Given the description of an element on the screen output the (x, y) to click on. 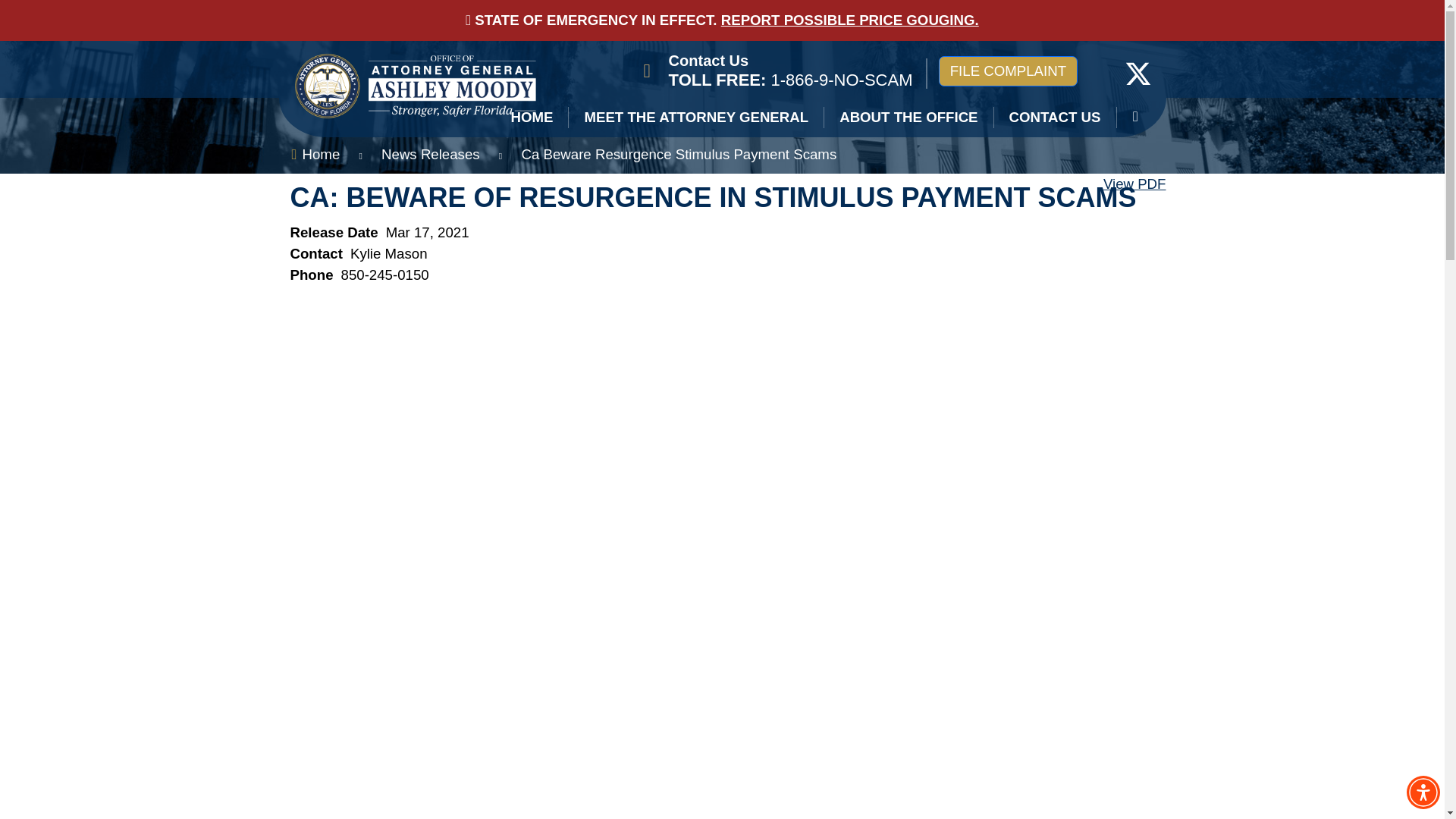
File Complaint (1008, 71)
Home (532, 117)
HOME (532, 117)
About the Office (908, 117)
Accessibility Menu (1422, 792)
REPORT POSSIBLE PRICE GOUGING. (849, 19)
CONTACT US (1055, 117)
Contact Us  (708, 60)
ABOUT THE OFFICE (908, 117)
TOLL FREE: 1-866-9-NO-SCAM (790, 79)
Contact Us (708, 60)
FILE COMPLAINT (1008, 71)
Meet the Attorney General (696, 117)
Office of Attorney general (1138, 72)
